Given the description of an element on the screen output the (x, y) to click on. 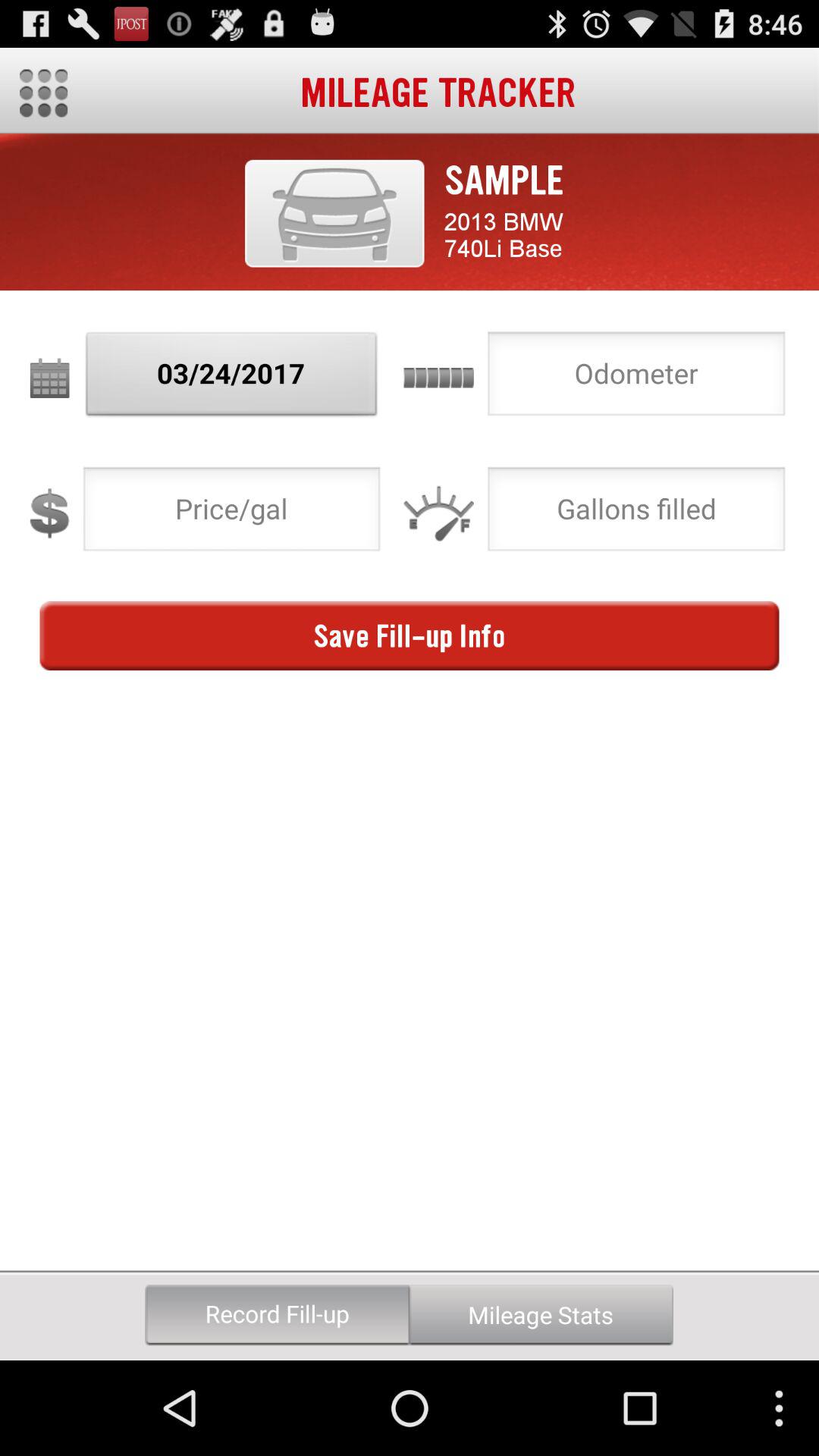
launch button next to the record fill-up button (540, 1314)
